Given the description of an element on the screen output the (x, y) to click on. 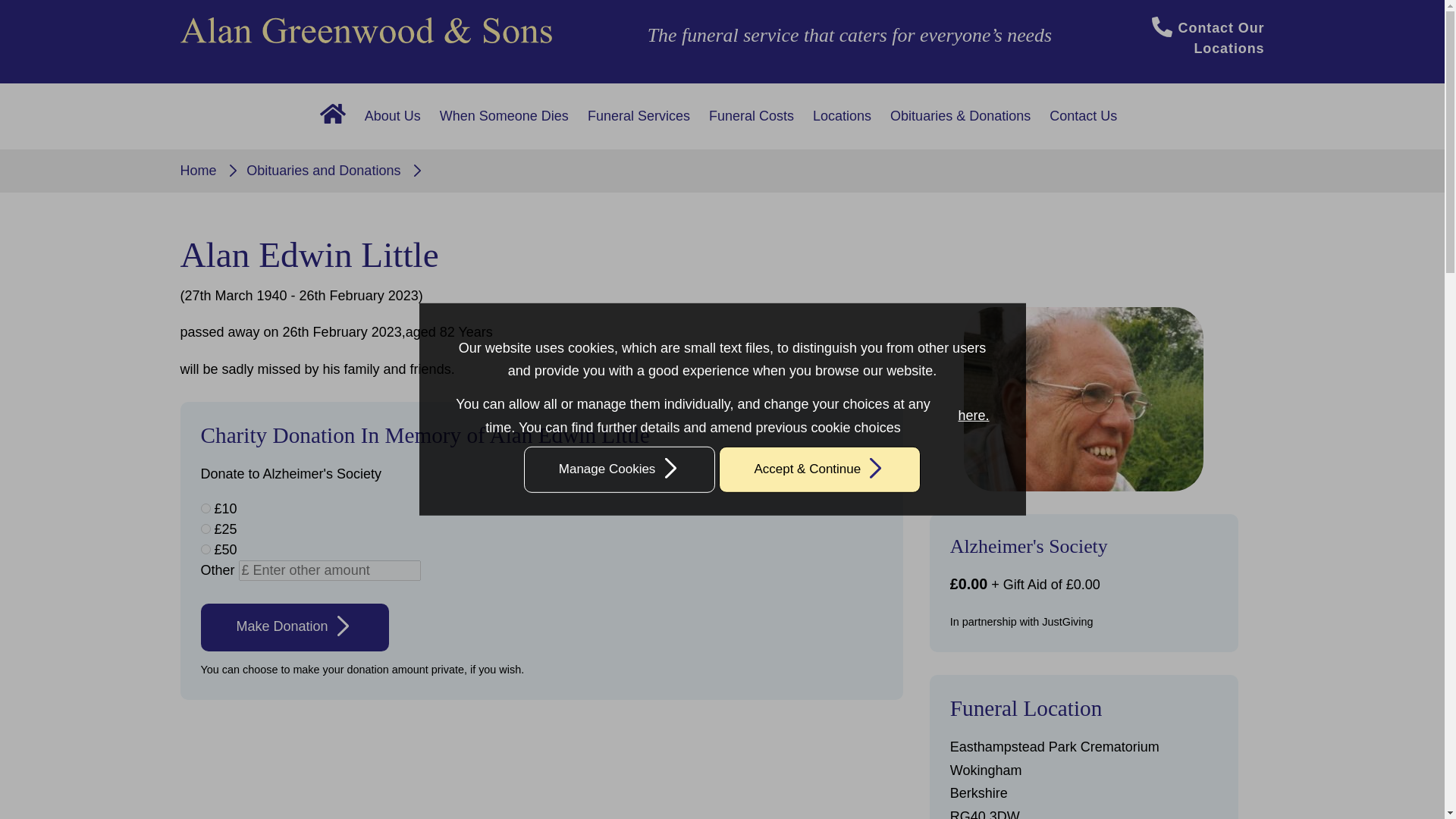
10 (204, 508)
About Us (392, 116)
Funeral Costs (751, 116)
Make donation (294, 627)
Contact Our Locations (1208, 37)
When Someone Dies (504, 116)
25 (204, 528)
50 (204, 549)
Home (333, 116)
Funeral Services (638, 116)
